Given the description of an element on the screen output the (x, y) to click on. 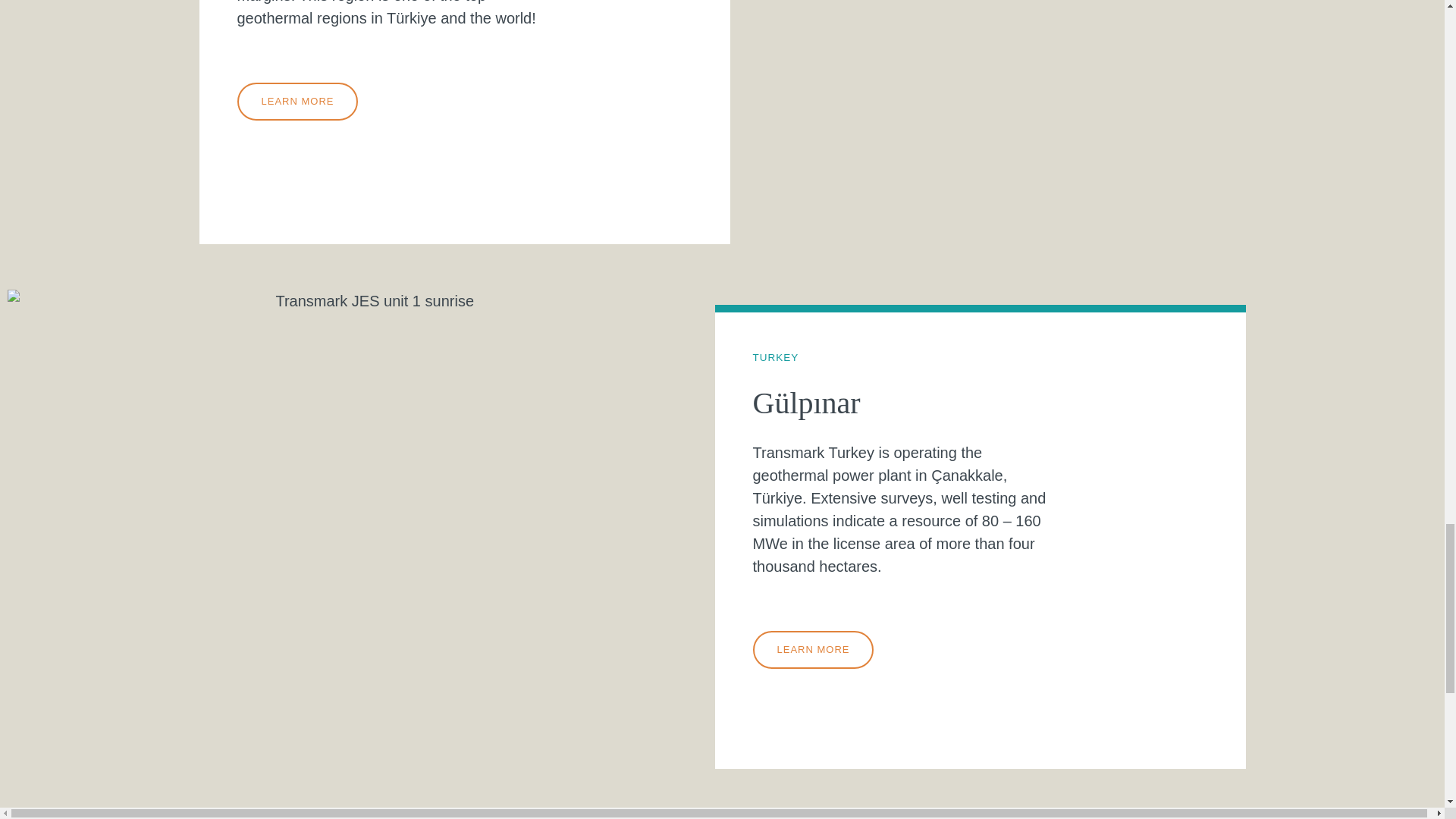
LEARN MORE (812, 649)
LEARN MORE (296, 101)
Learn more about ourManisa project (296, 101)
